Given the description of an element on the screen output the (x, y) to click on. 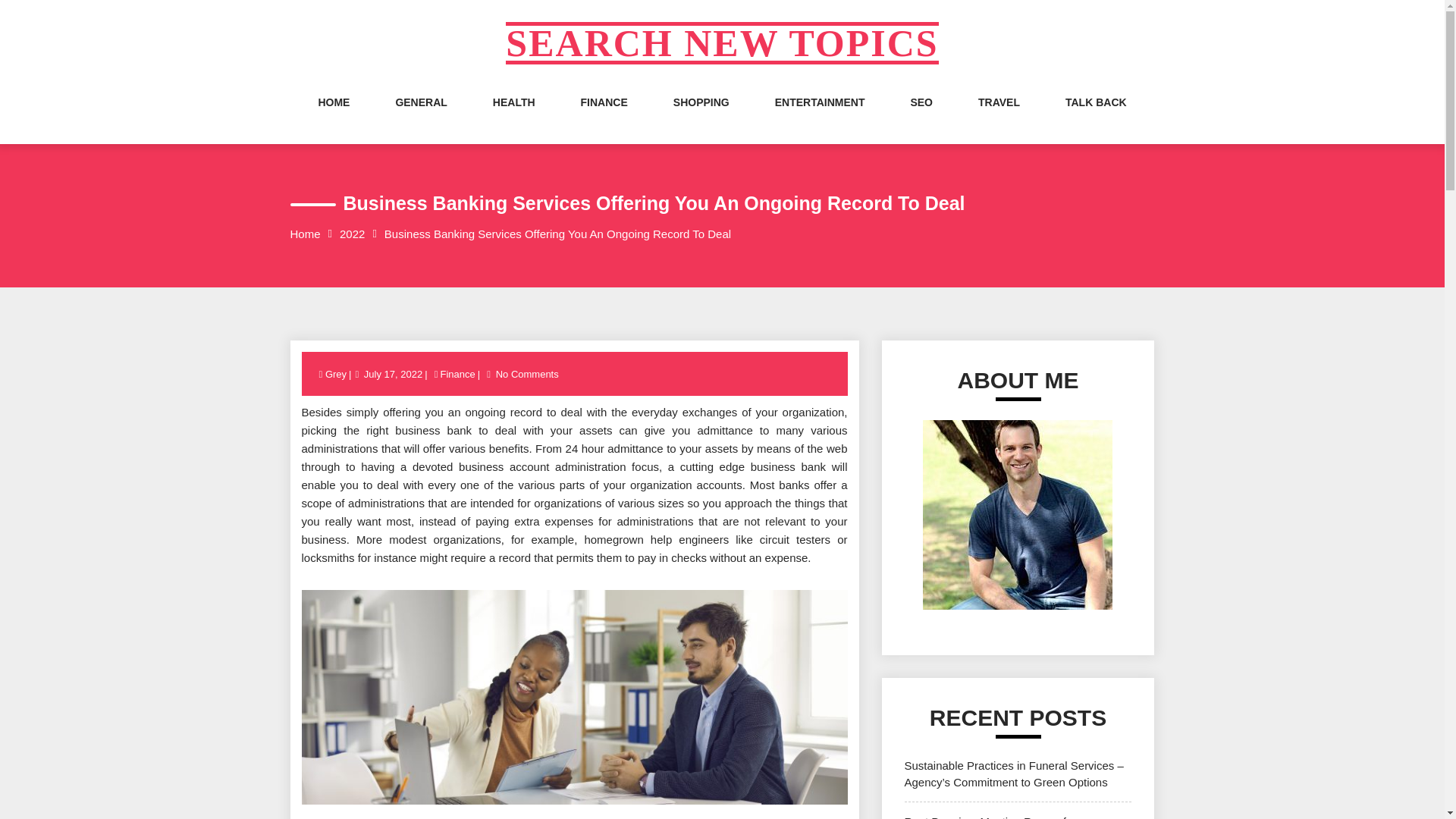
TRAVEL (999, 117)
2022 (352, 233)
Finance (457, 374)
TALK BACK (1095, 117)
SHOPPING (700, 117)
HEALTH (514, 117)
ENTERTAINMENT (819, 117)
FINANCE (603, 117)
Home (304, 233)
GENERAL (420, 117)
